Given the description of an element on the screen output the (x, y) to click on. 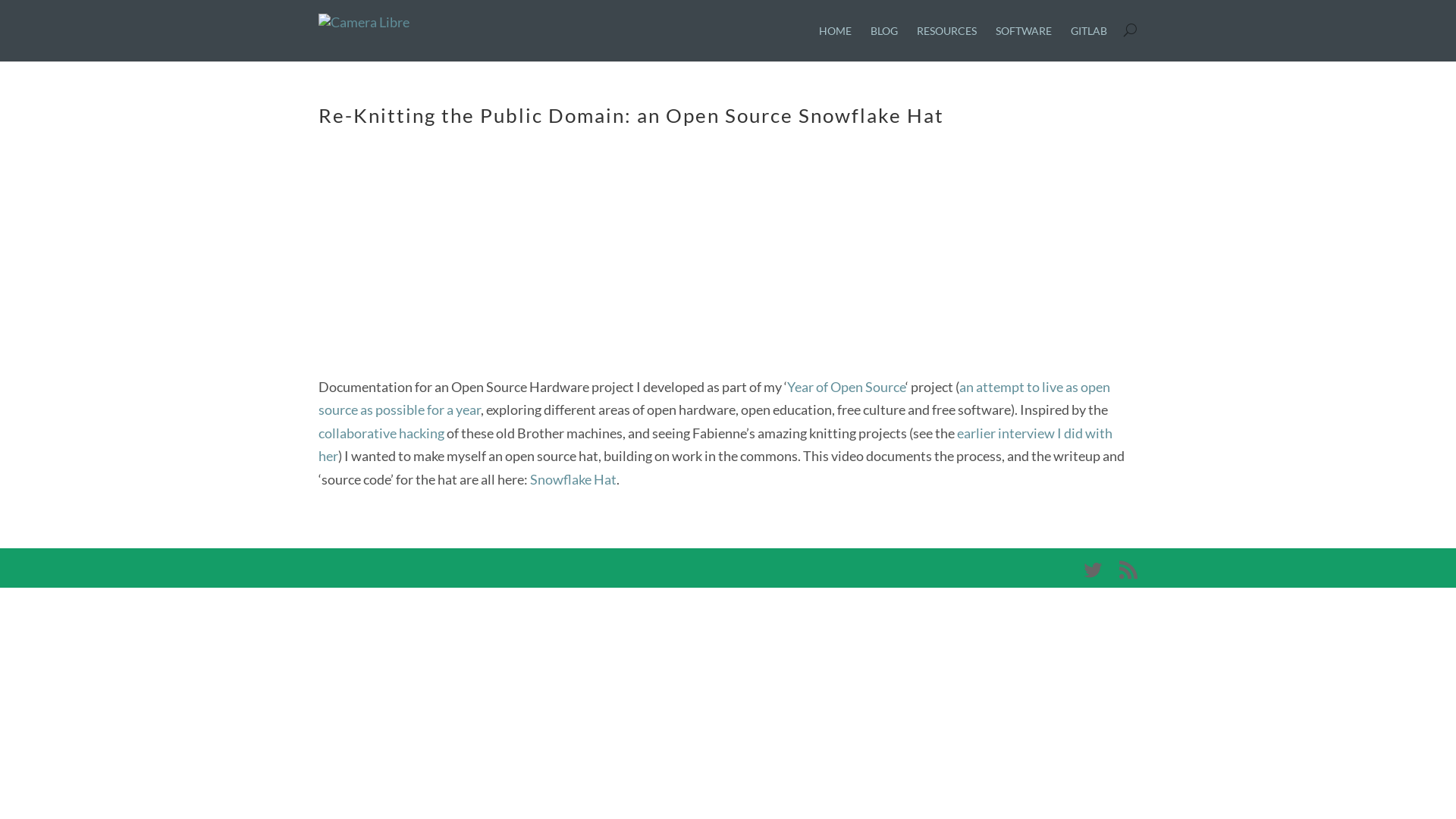
Snowflake Hat Element type: text (573, 478)
BLOG Element type: text (883, 41)
RESOURCES Element type: text (946, 41)
earlier interview I did with her Element type: text (715, 444)
an attempt to live as open source as possible for a year Element type: text (714, 398)
GITLAB Element type: text (1088, 41)
HOME Element type: text (835, 41)
SOFTWARE Element type: text (1023, 41)
Year of Open Source Element type: text (846, 386)
collaborative hacking Element type: text (381, 432)
